Given the description of an element on the screen output the (x, y) to click on. 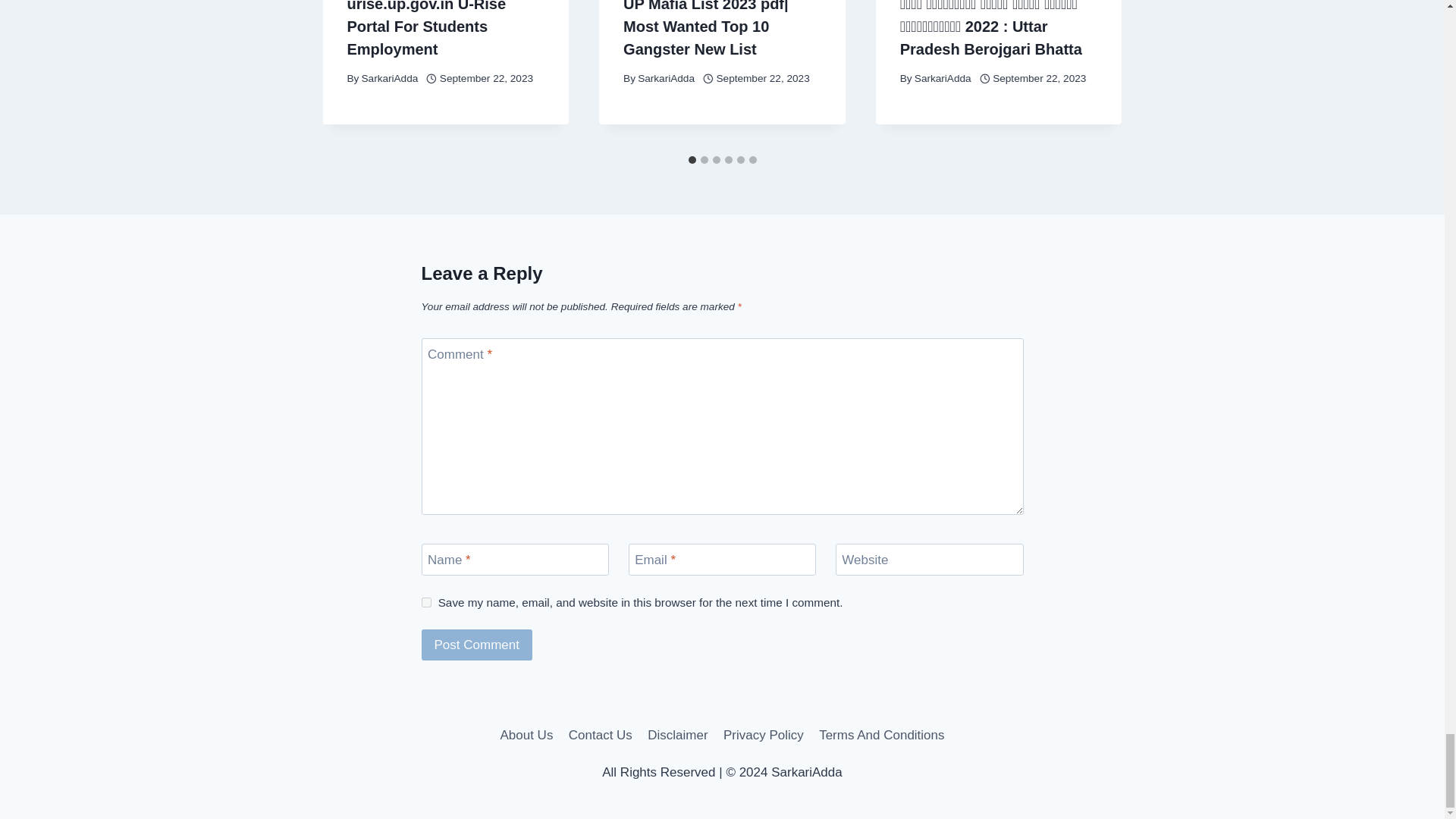
yes (426, 602)
Post Comment (477, 644)
